Given the description of an element on the screen output the (x, y) to click on. 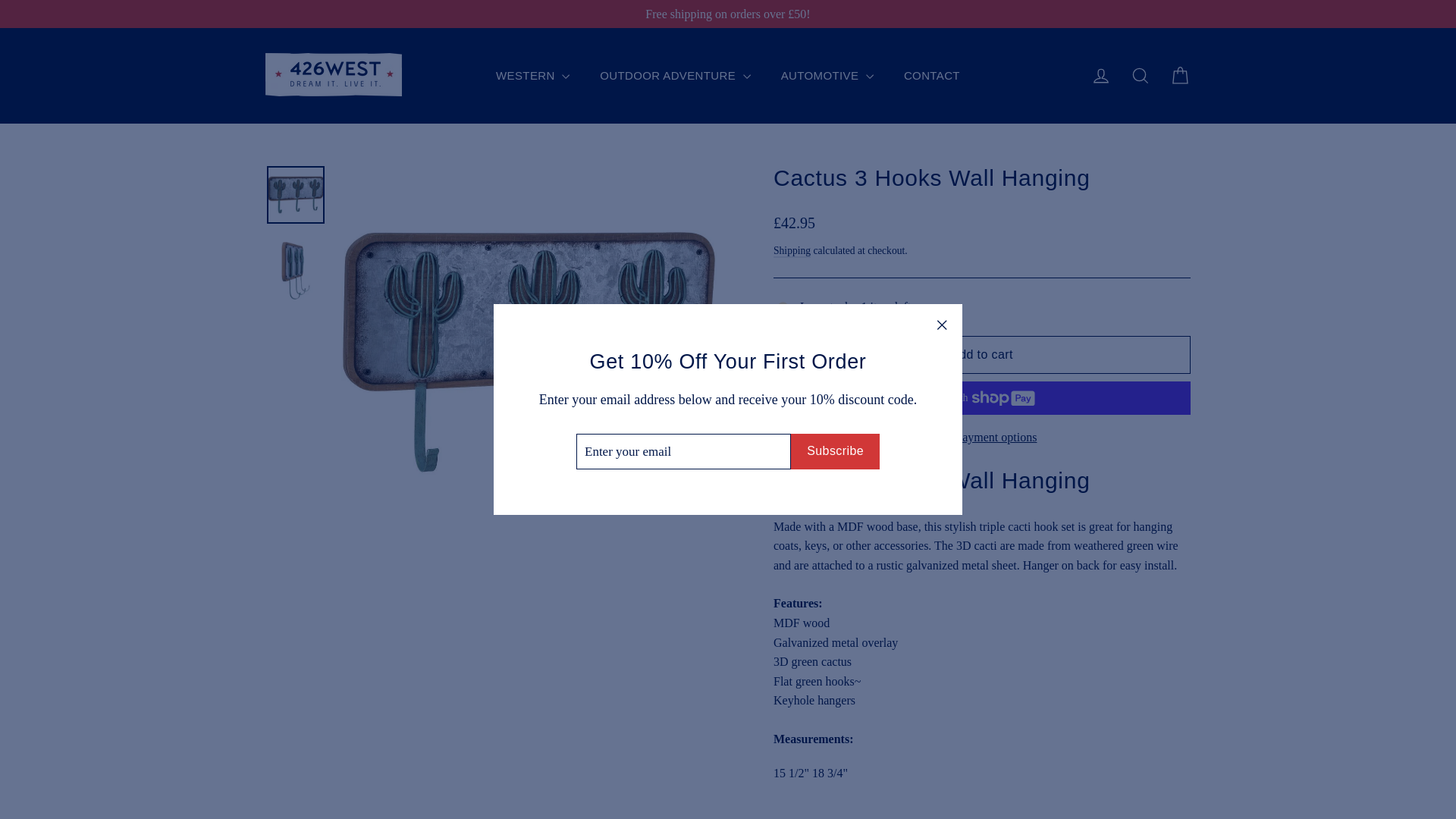
icon-search (1140, 75)
account (1101, 75)
icon-X (941, 324)
